Given the description of an element on the screen output the (x, y) to click on. 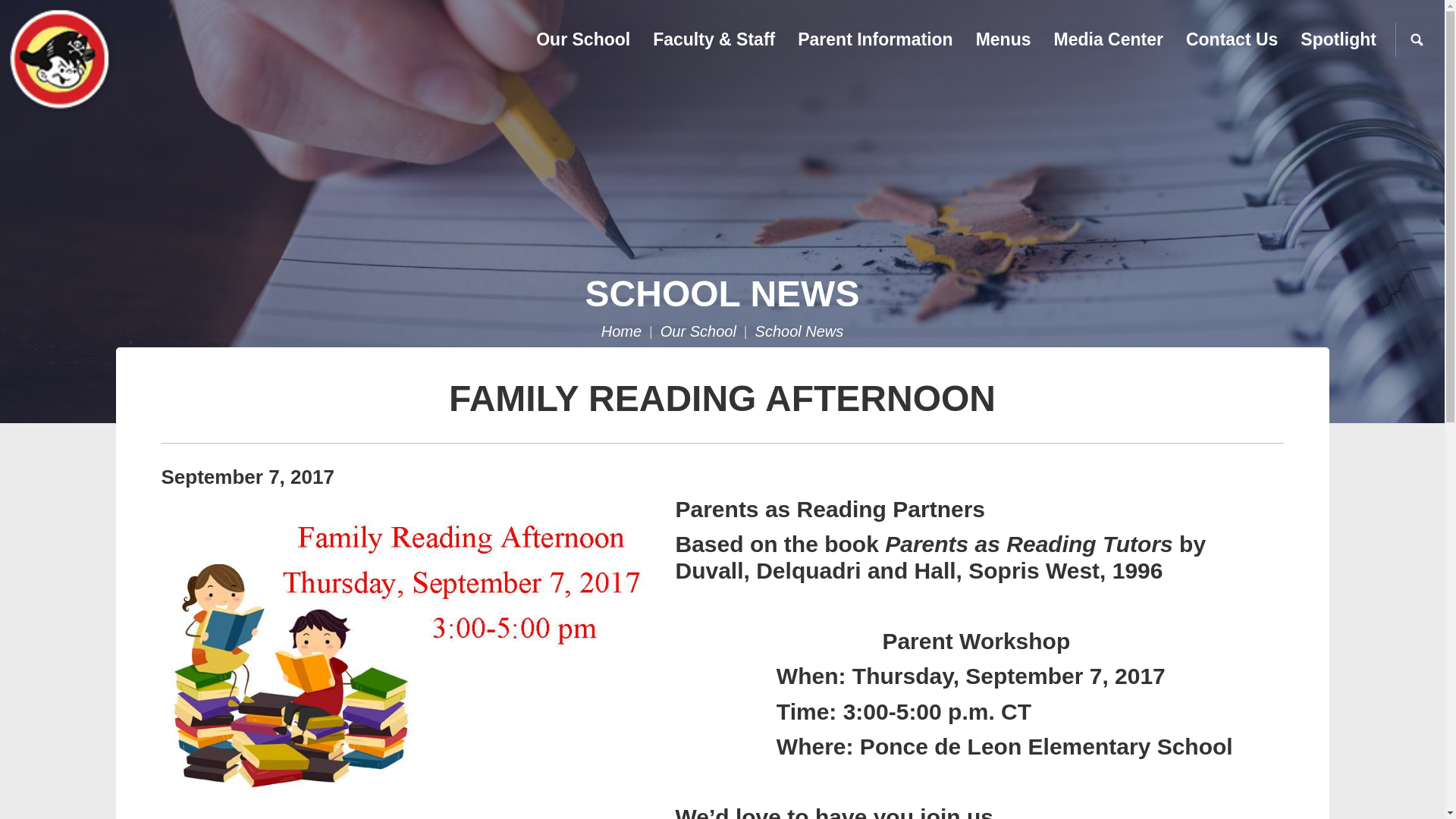
Home (621, 330)
Parent Information (874, 39)
School News (799, 330)
Media Center (1108, 39)
PONCE DE LEON ELEMENTARY SCHOOL (140, 60)
SCHOOL NEWS (722, 293)
Menus (1002, 39)
Spotlight (1337, 39)
Our School (698, 330)
Our School (583, 39)
Contact Us (1231, 39)
Search (1416, 39)
FAMILY READING AFTERNOON (721, 398)
